Given the description of an element on the screen output the (x, y) to click on. 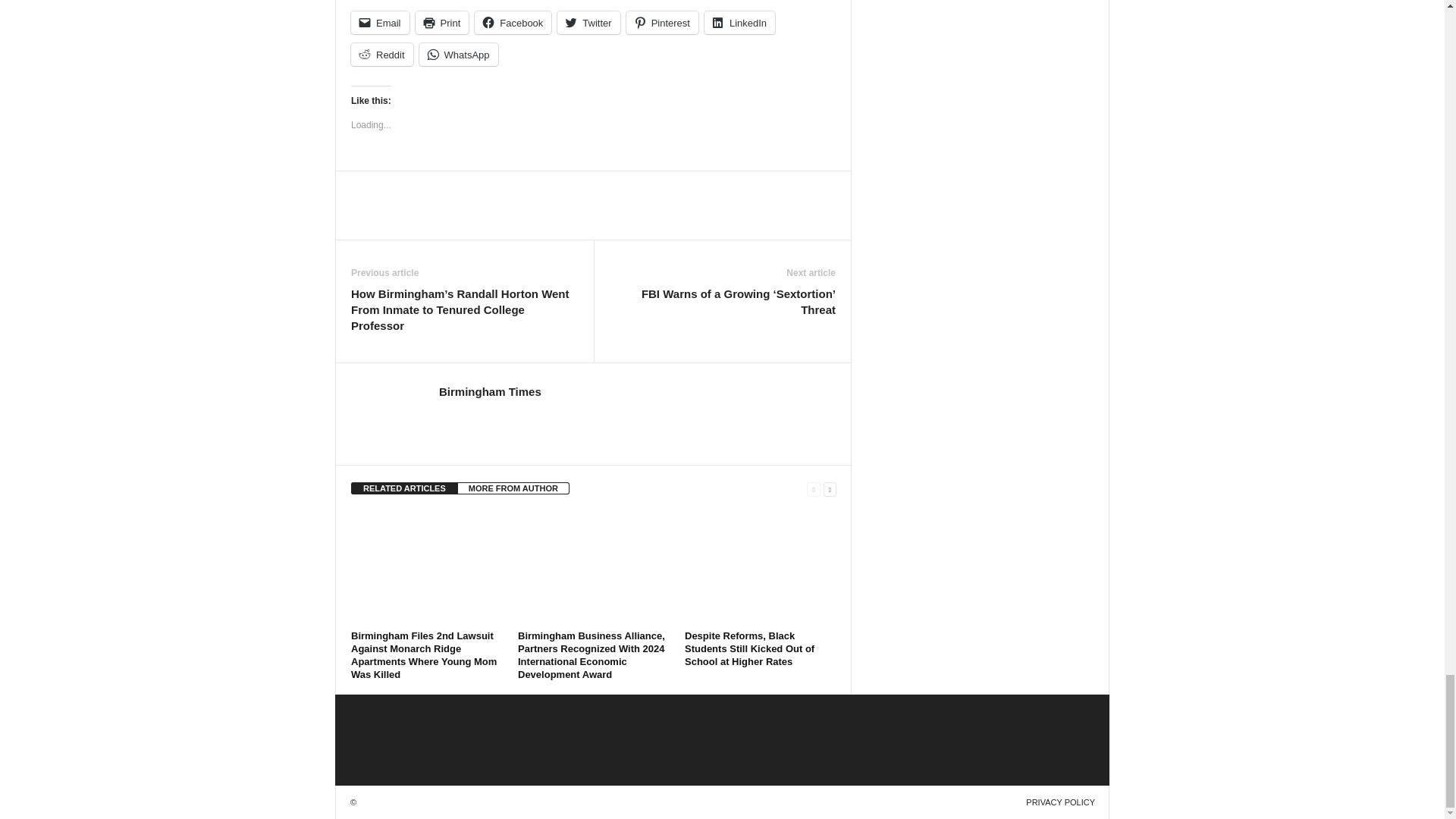
Click to share on Reddit (381, 54)
Click to email a link to a friend (379, 22)
Click to share on Facebook (512, 22)
bottomFacebookLike (390, 186)
Click to share on WhatsApp (458, 54)
Click to share on Pinterest (662, 22)
Click to share on LinkedIn (739, 22)
Click to share on Twitter (588, 22)
Click to print (441, 22)
